Given the description of an element on the screen output the (x, y) to click on. 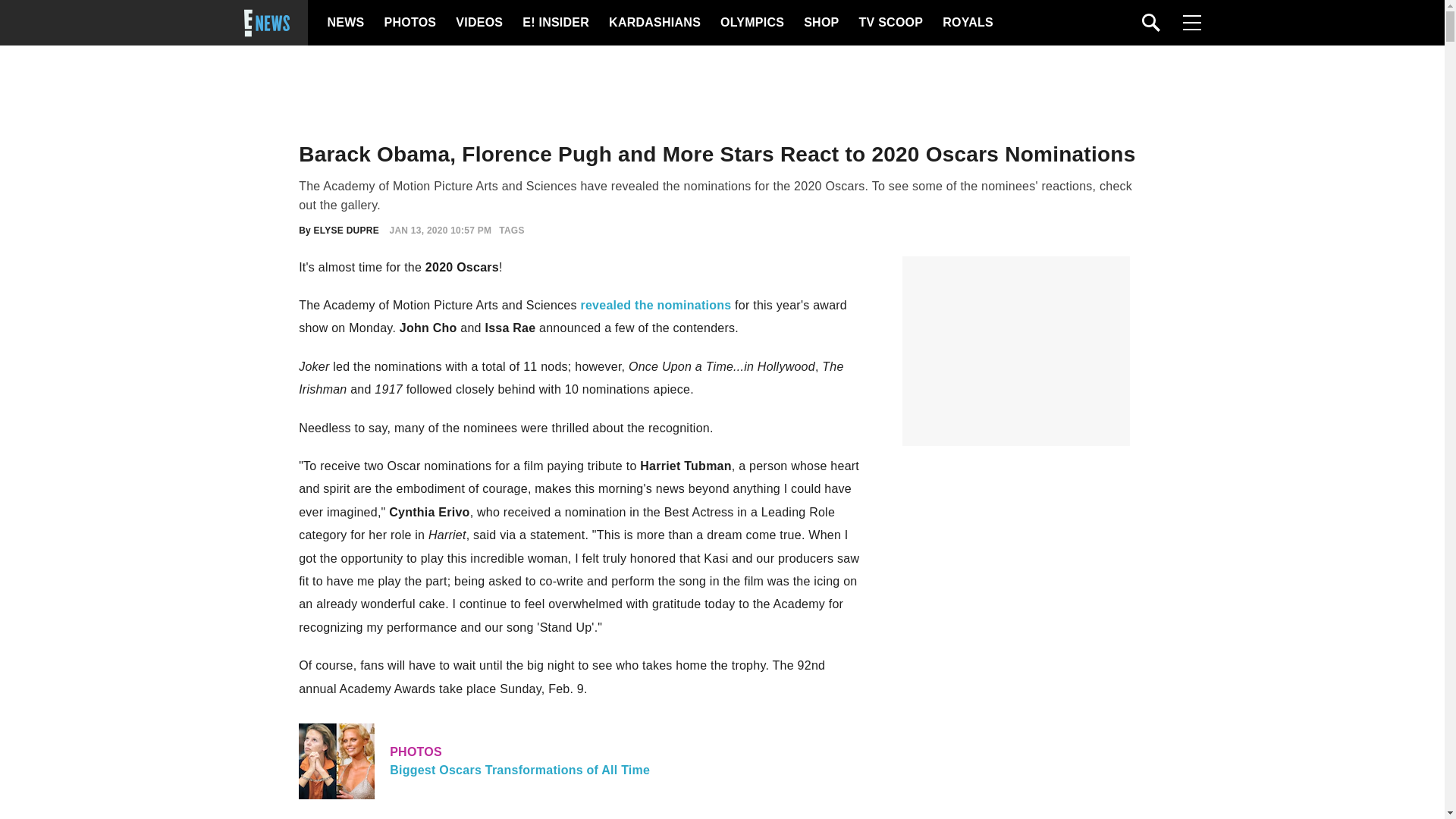
E! INSIDER (555, 22)
ROYALS (966, 22)
PHOTOS (408, 22)
OLYMPICS (751, 22)
TV SCOOP (890, 22)
ELYSE DUPRE (346, 230)
revealed the nominations (654, 305)
SHOP (820, 22)
KARDASHIANS (653, 22)
VIDEOS (478, 22)
